Given the description of an element on the screen output the (x, y) to click on. 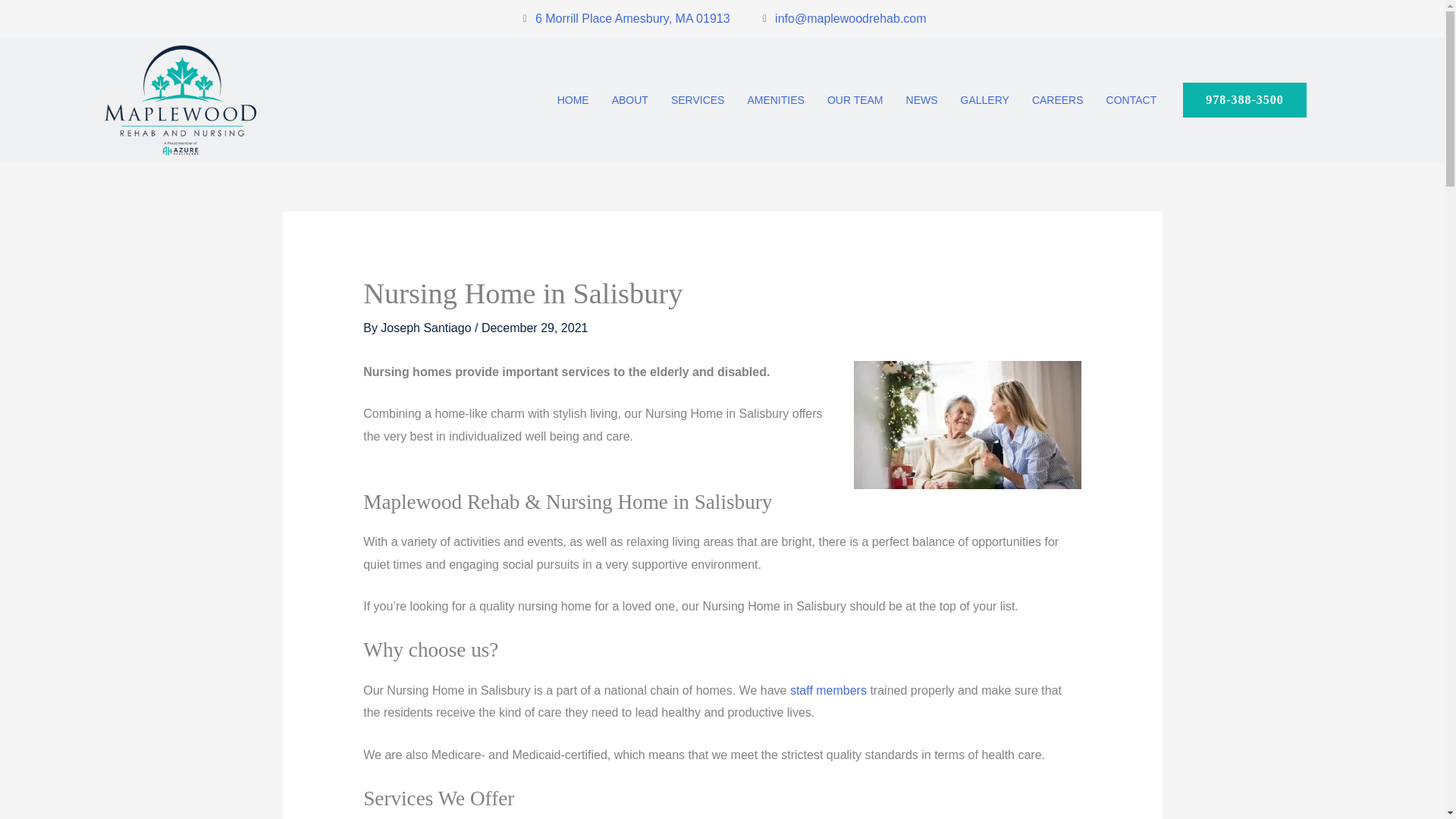
HOME (572, 100)
GALLERY (984, 100)
staff members (828, 689)
978-388-3500 (1244, 99)
OUR TEAM (855, 100)
AMENITIES (775, 100)
Joseph Santiago (427, 327)
NEWS (922, 100)
6 Morrill Place Amesbury, MA 01913 (623, 18)
CONTACT (1131, 100)
SERVICES (697, 100)
ABOUT (629, 100)
View all posts by Joseph Santiago (427, 327)
CAREERS (1057, 100)
